Given the description of an element on the screen output the (x, y) to click on. 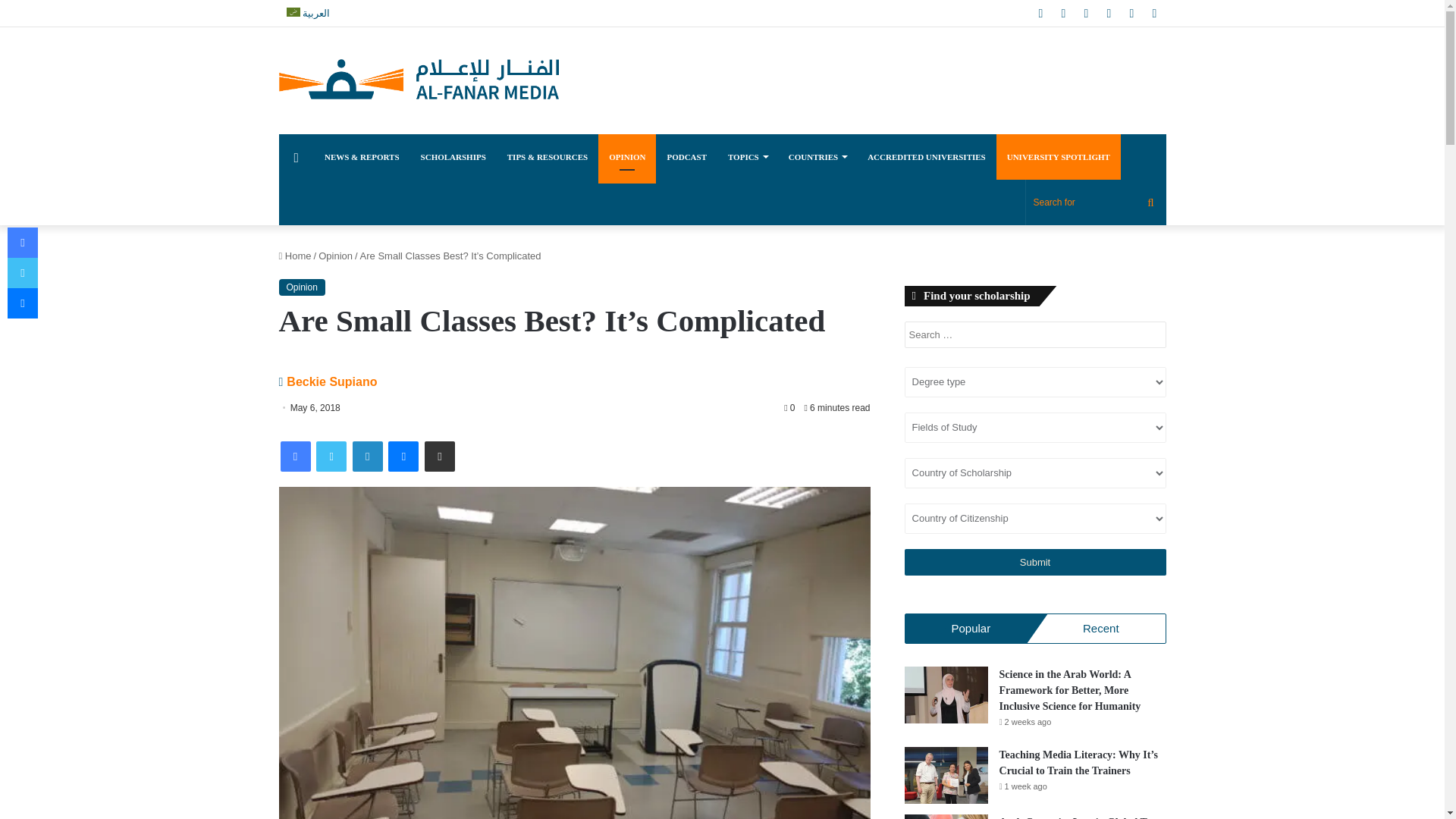
Share via Email (439, 456)
Twitter (330, 456)
Al-Fanar Media (419, 80)
Facebook (296, 456)
Search for (1095, 202)
PODCAST (686, 156)
SCHOLARSHIPS (453, 156)
Submit (1035, 561)
Messenger (403, 456)
LinkedIn (367, 456)
